Given the description of an element on the screen output the (x, y) to click on. 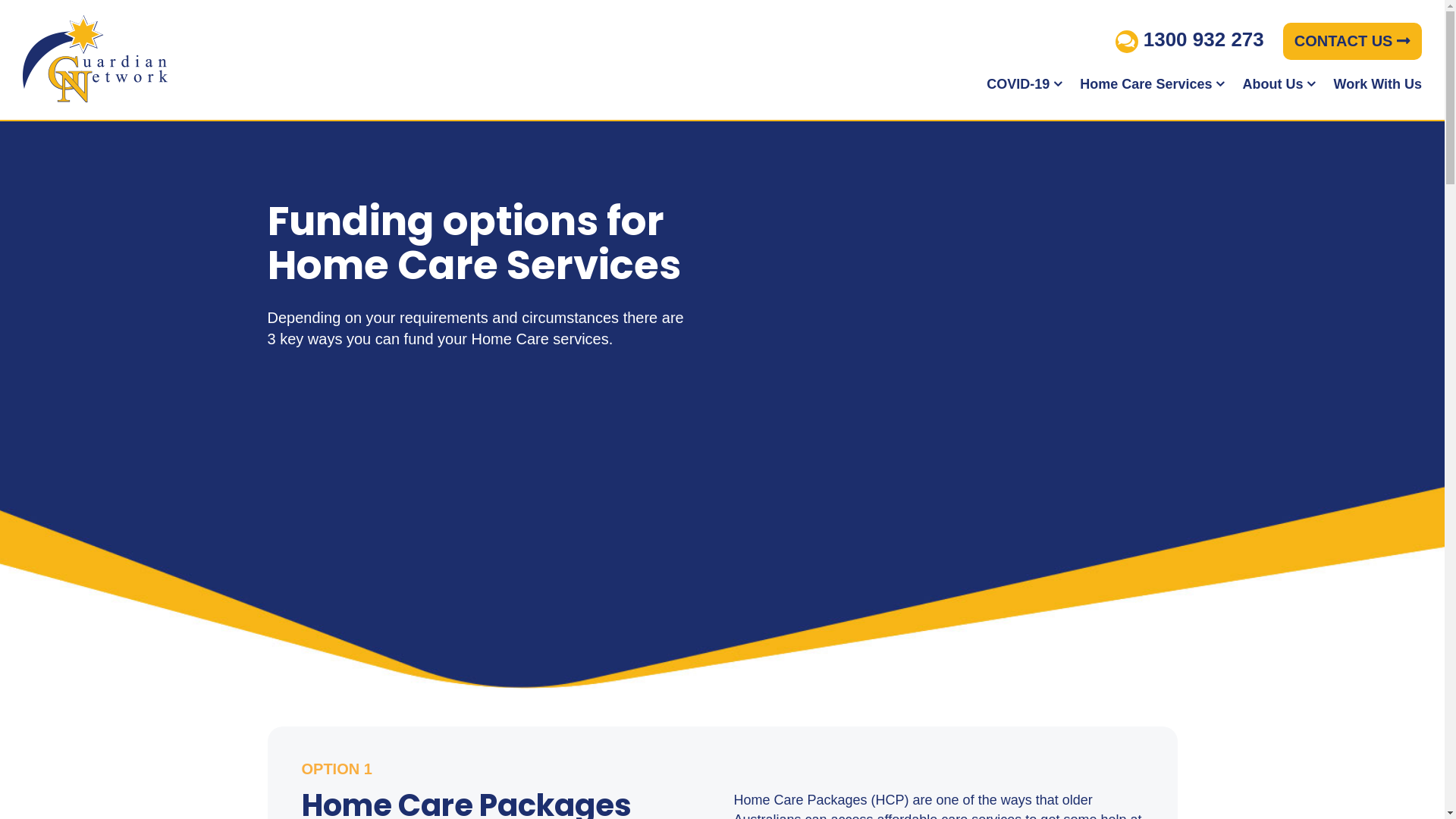
1300 932 273 Element type: text (1189, 39)
COVID-19 Element type: text (1024, 83)
Home Care Services Element type: text (1151, 83)
About Us Element type: text (1278, 83)
Work With Us Element type: text (1377, 83)
CONTACT US Element type: text (1352, 40)
